Given the description of an element on the screen output the (x, y) to click on. 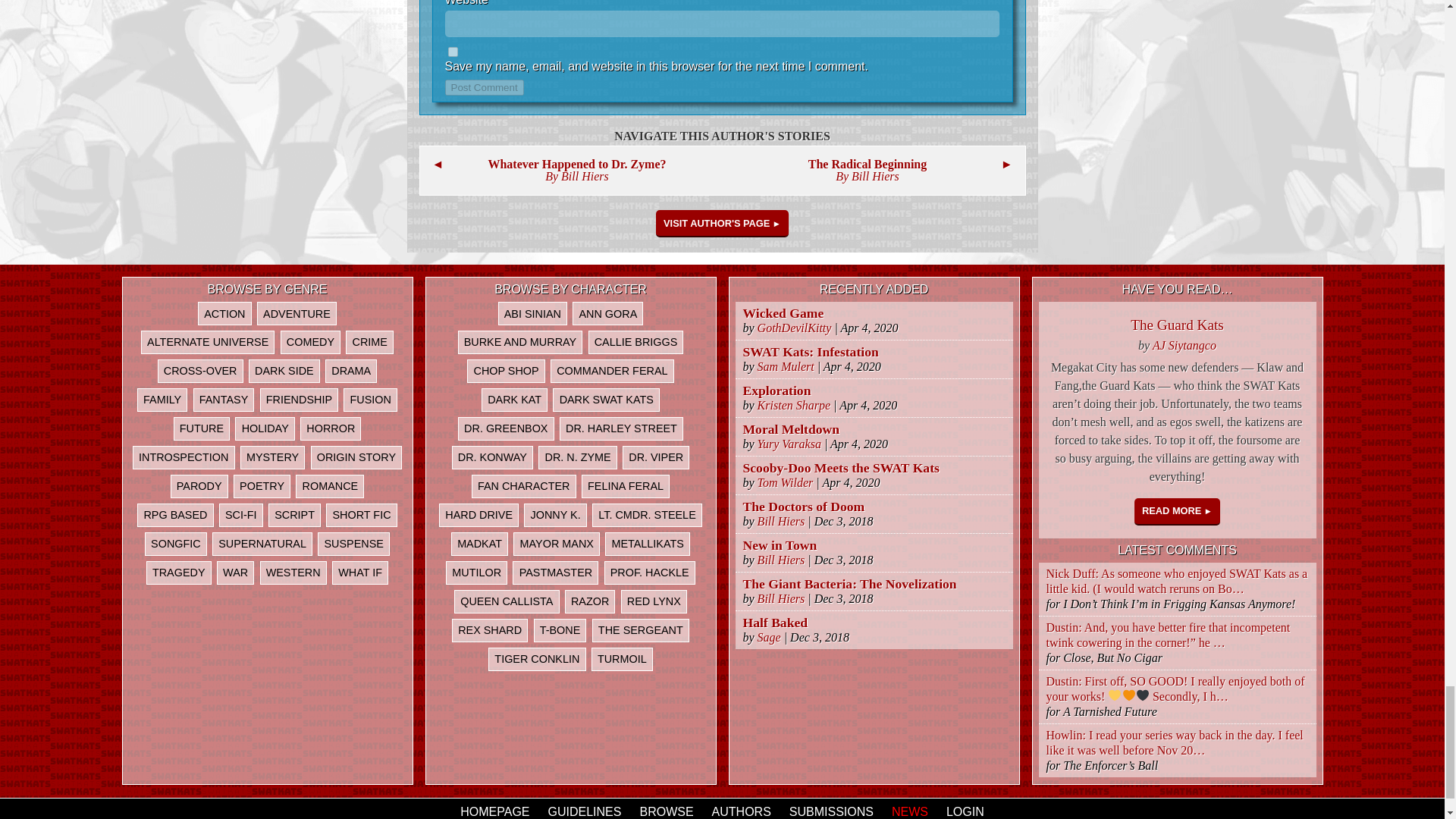
Post Comment (483, 87)
yes (451, 51)
